Given the description of an element on the screen output the (x, y) to click on. 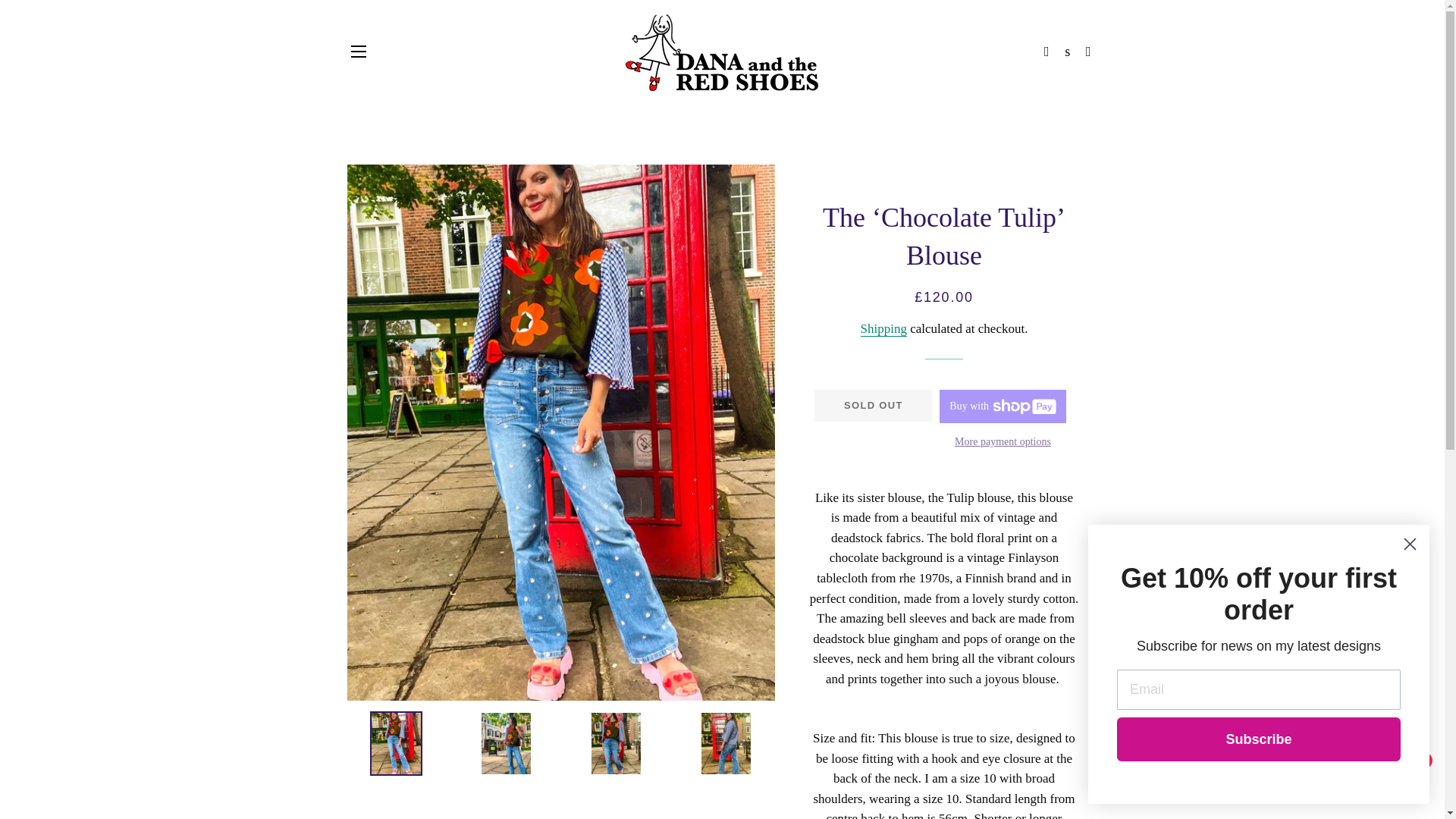
SITE NAVIGATION (358, 51)
Shopify online store chat (1404, 781)
